Given the description of an element on the screen output the (x, y) to click on. 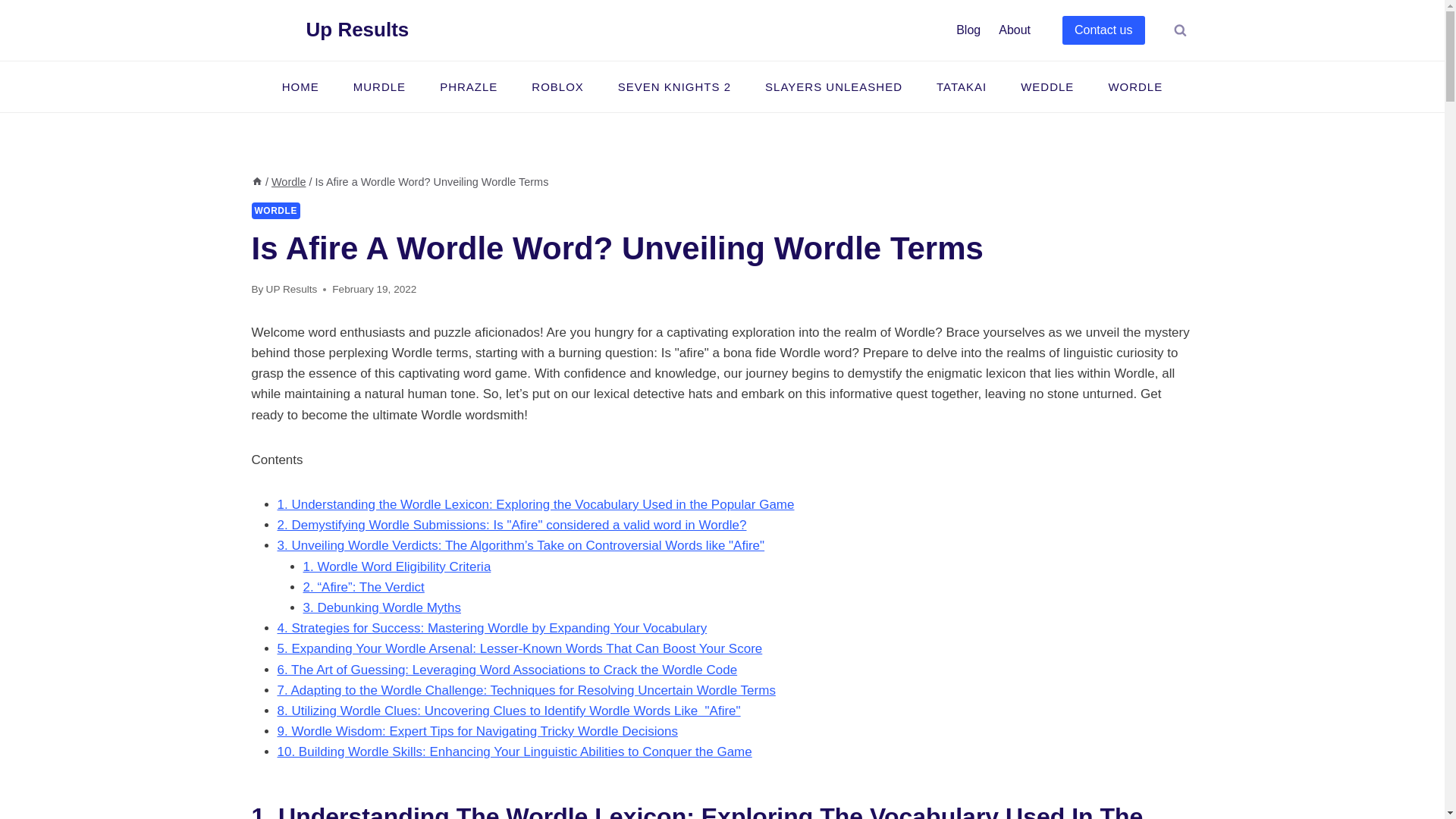
PHRAZLE (469, 86)
SLAYERS UNLEASHED (834, 86)
TATAKAI (960, 86)
Up Results (330, 29)
Contact us (1103, 30)
Blog (968, 30)
SEVEN KNIGHTS 2 (673, 86)
HOME (300, 86)
WORDLE (1134, 86)
ROBLOX (558, 86)
Home (256, 182)
Wordle (287, 182)
WEDDLE (1047, 86)
UP Results (291, 288)
About (1014, 30)
